Given the description of an element on the screen output the (x, y) to click on. 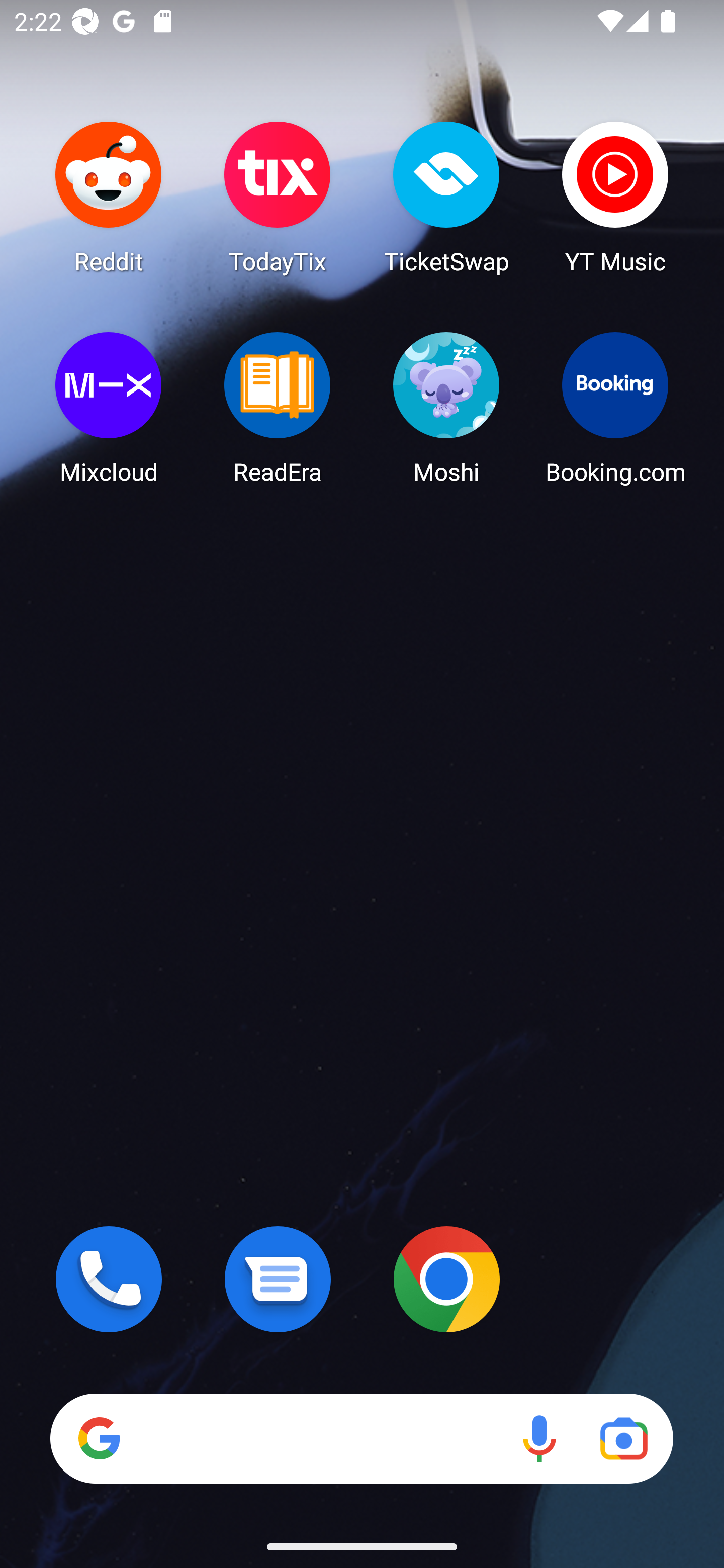
Reddit (108, 196)
TodayTix (277, 196)
TicketSwap (445, 196)
YT Music (615, 196)
Mixcloud (108, 407)
ReadEra (277, 407)
Moshi (445, 407)
Booking.com (615, 407)
Phone (108, 1279)
Messages (277, 1279)
Chrome (446, 1279)
Search Voice search Google Lens (361, 1438)
Voice search (539, 1438)
Google Lens (623, 1438)
